Given the description of an element on the screen output the (x, y) to click on. 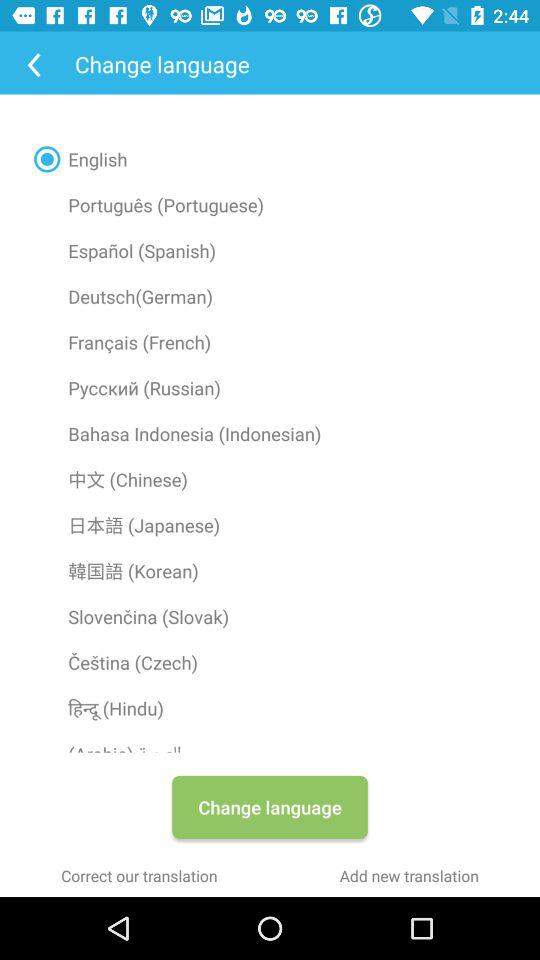
open radio button above the deutsch(german) icon (269, 250)
